Given the description of an element on the screen output the (x, y) to click on. 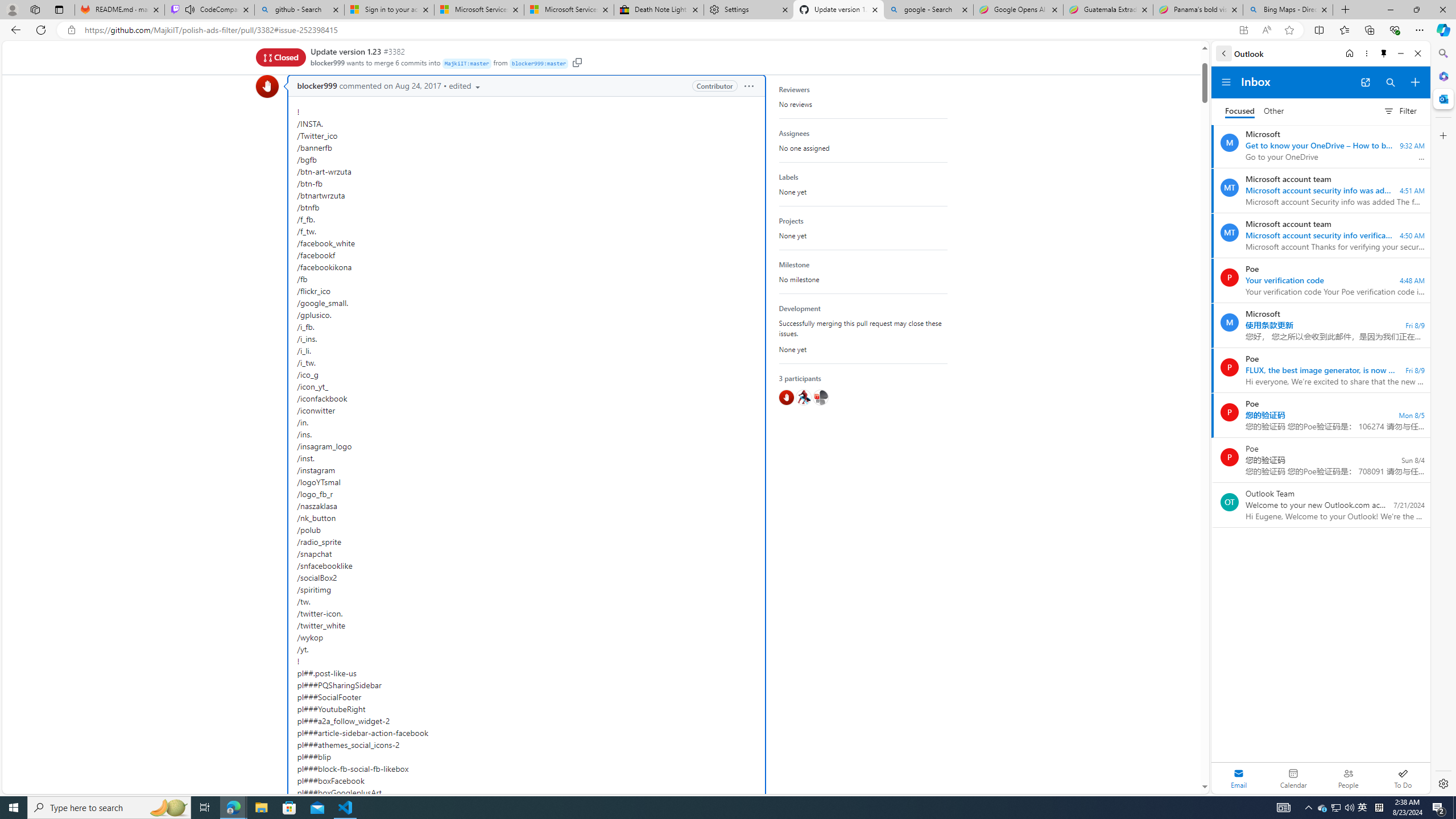
Selected mail module (1238, 777)
Show options (748, 85)
edited  (465, 85)
Update version 1.23 (345, 51)
Other (1273, 110)
blocker999 (317, 85)
Mute tab (189, 8)
@MajkiIT (820, 396)
